Given the description of an element on the screen output the (x, y) to click on. 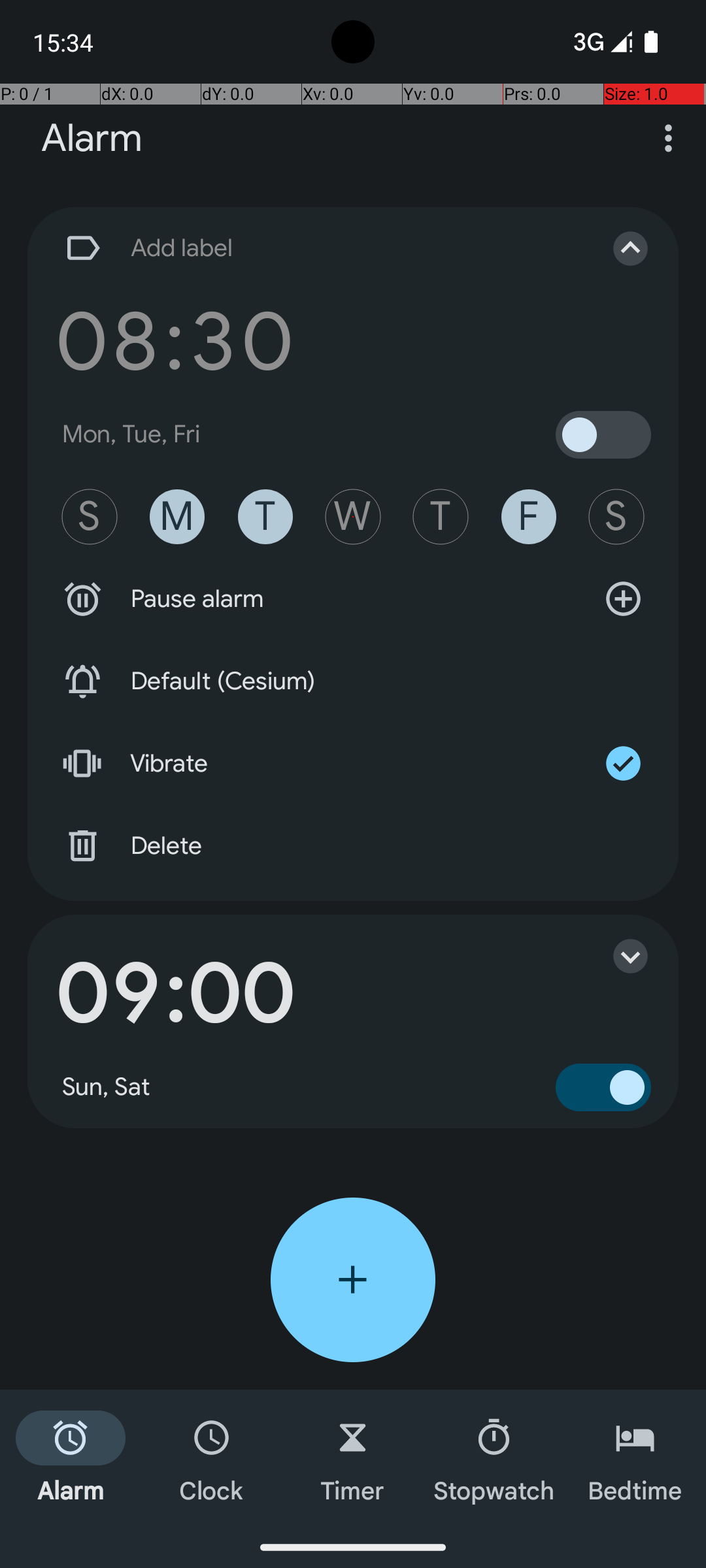
Add alarm Element type: android.widget.Button (352, 1279)
Add label Element type: android.widget.TextView (318, 248)
Collapse alarm Element type: android.widget.ImageButton (616, 248)
08:30 Element type: android.widget.TextView (174, 341)
Mon, Tue, Fri Element type: android.widget.TextView (130, 433)
S Element type: android.widget.CheckBox (89, 516)
M Element type: android.widget.CheckBox (176, 516)
T Element type: android.widget.CheckBox (265, 516)
W Element type: android.widget.CheckBox (352, 516)
F Element type: android.widget.CheckBox (528, 516)
Pause alarm Element type: android.widget.TextView (352, 598)
Default (Cesium) Element type: android.widget.TextView (352, 681)
Vibrate Element type: android.widget.CheckBox (352, 763)
09:00 Element type: android.widget.TextView (174, 993)
Expand alarm Element type: android.widget.ImageButton (616, 955)
Sun, Sat Element type: android.widget.TextView (106, 1086)
